Given the description of an element on the screen output the (x, y) to click on. 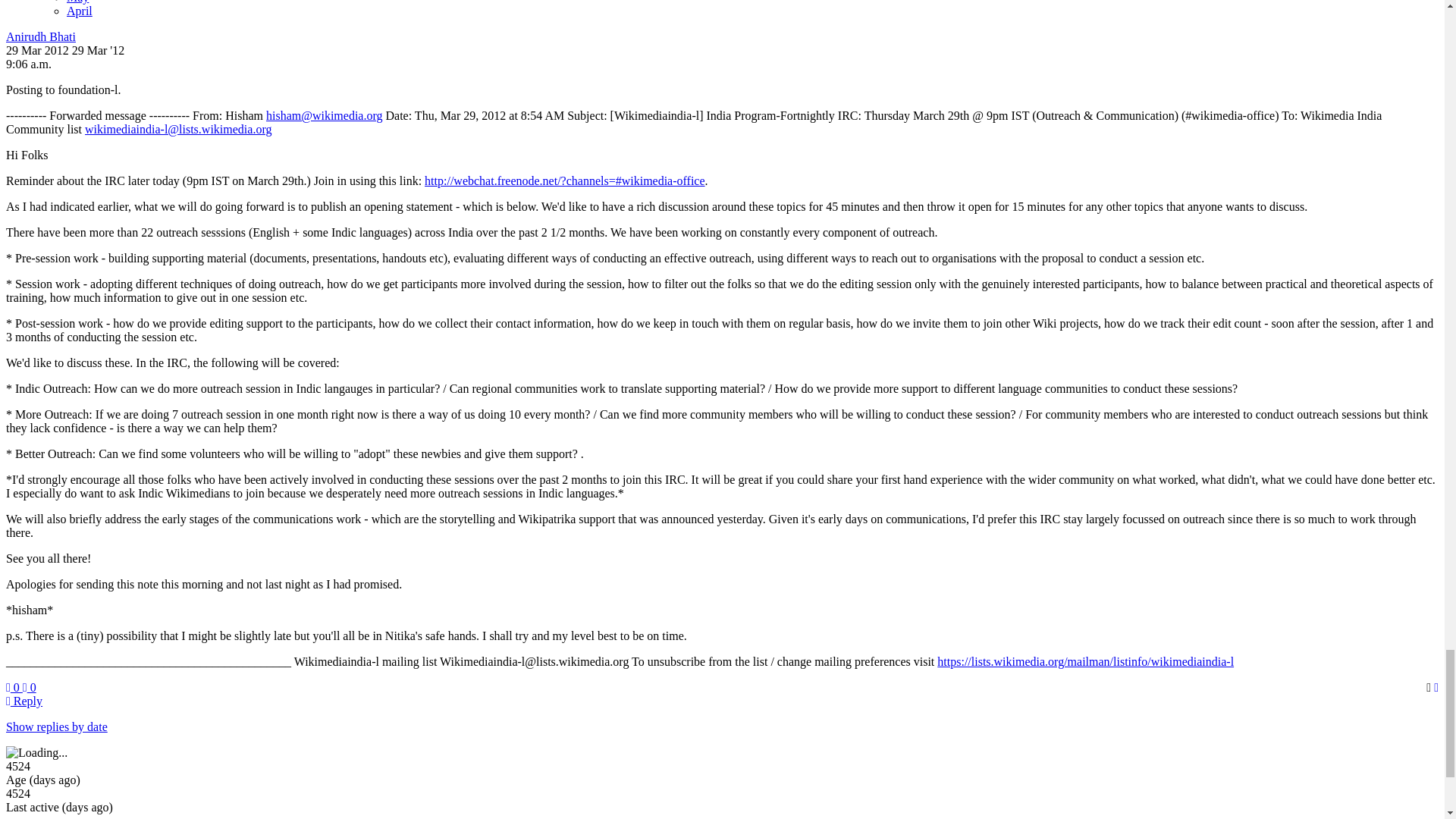
You must be logged-in to vote. (14, 686)
See the profile for Anirudh Bhati (40, 36)
Sender's time: March 29, 2012, 11:36 a.m. (27, 63)
Sign in to reply online (23, 700)
You must be logged-in to vote. (29, 686)
